Given the description of an element on the screen output the (x, y) to click on. 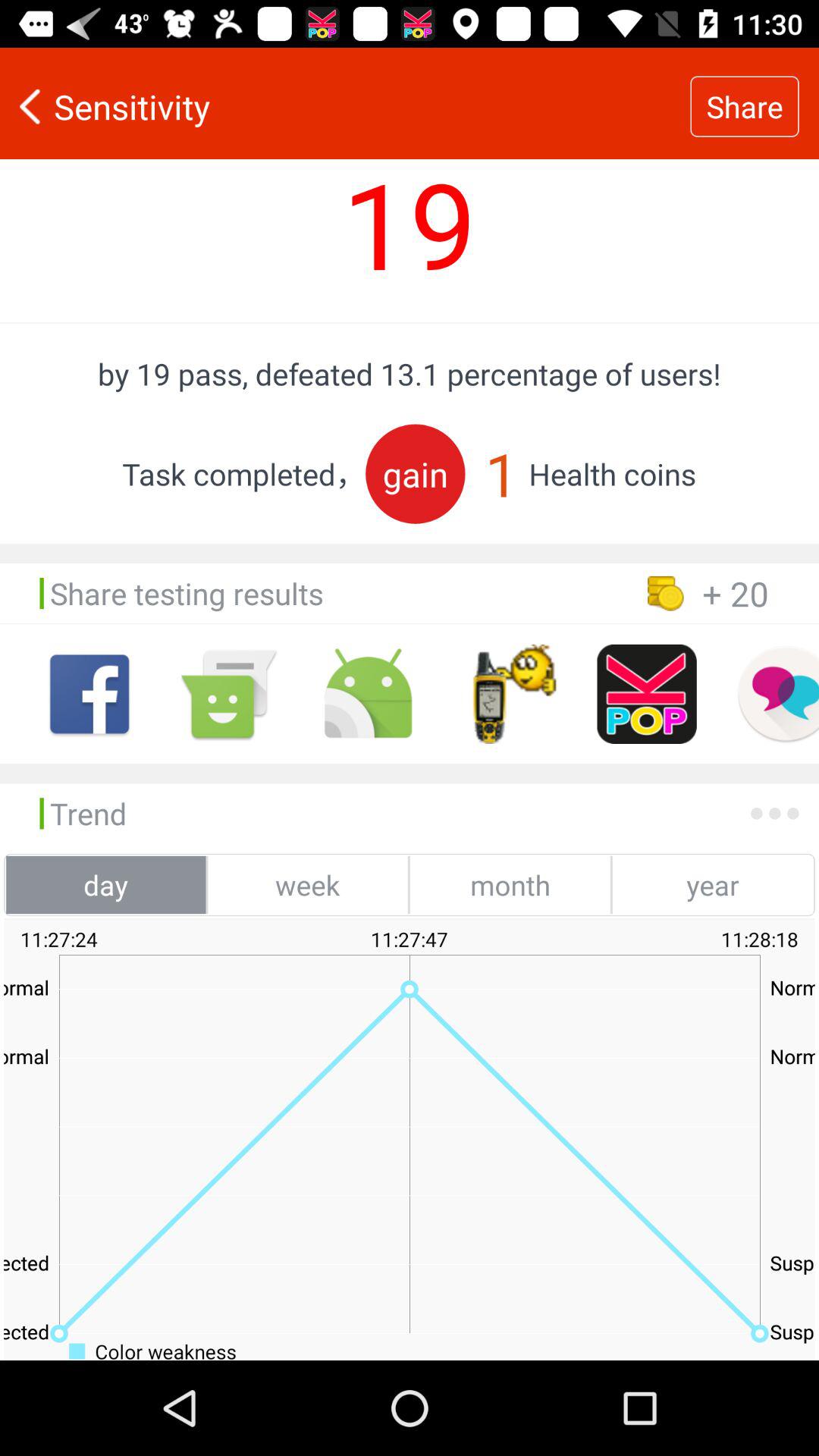
jump to week item (307, 884)
